Given the description of an element on the screen output the (x, y) to click on. 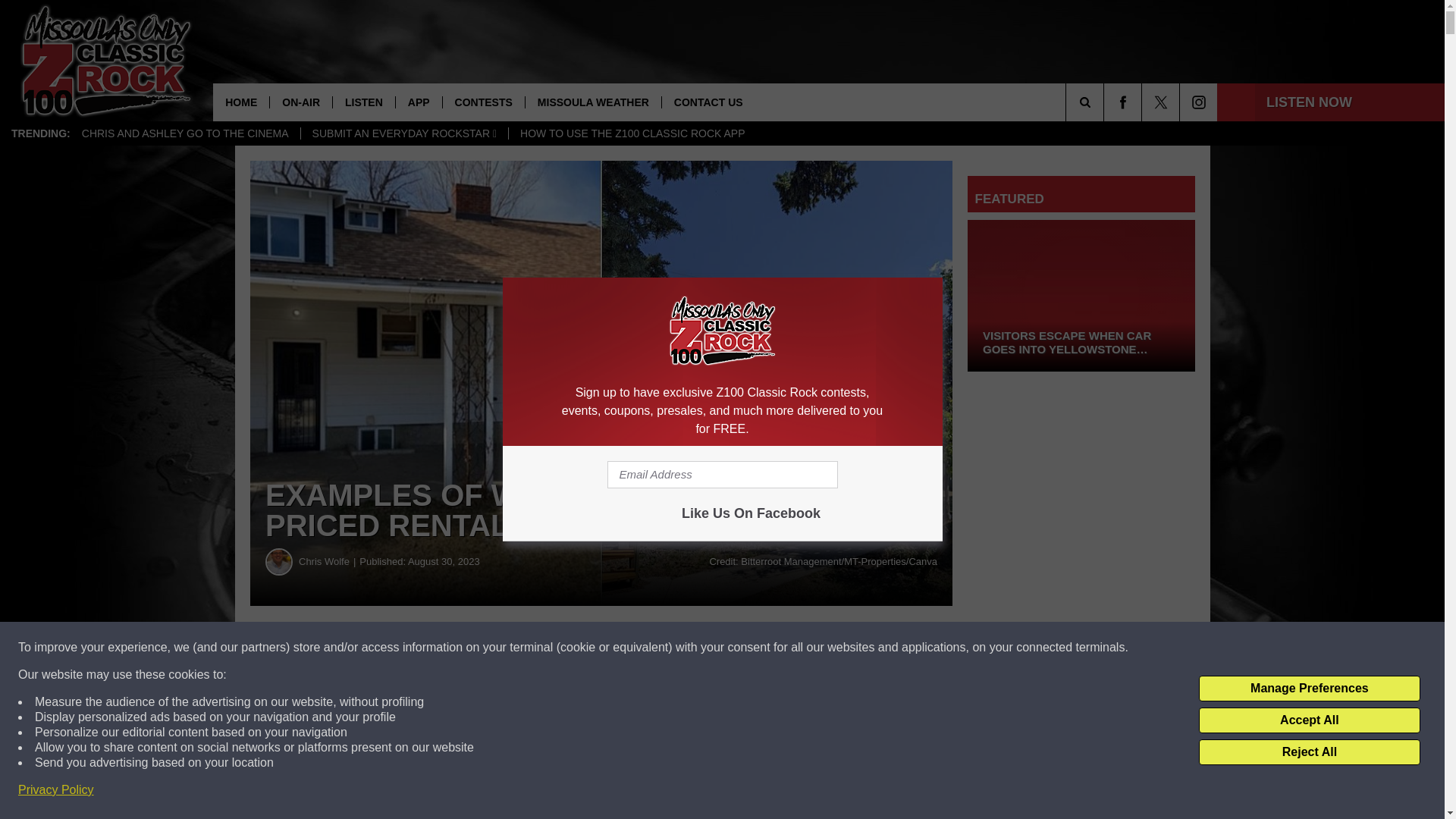
MISSOULA WEATHER (592, 102)
Reject All (1309, 751)
Share on Facebook (460, 647)
Email Address (722, 474)
Accept All (1309, 720)
Privacy Policy (55, 789)
HOME (240, 102)
Manage Preferences (1309, 688)
CONTACT US (708, 102)
ON-AIR (300, 102)
LISTEN (362, 102)
APP (418, 102)
HOW TO USE THE Z100 CLASSIC ROCK APP (631, 133)
SEARCH (1106, 102)
CHRIS AND ASHLEY GO TO THE CINEMA (184, 133)
